Given the description of an element on the screen output the (x, y) to click on. 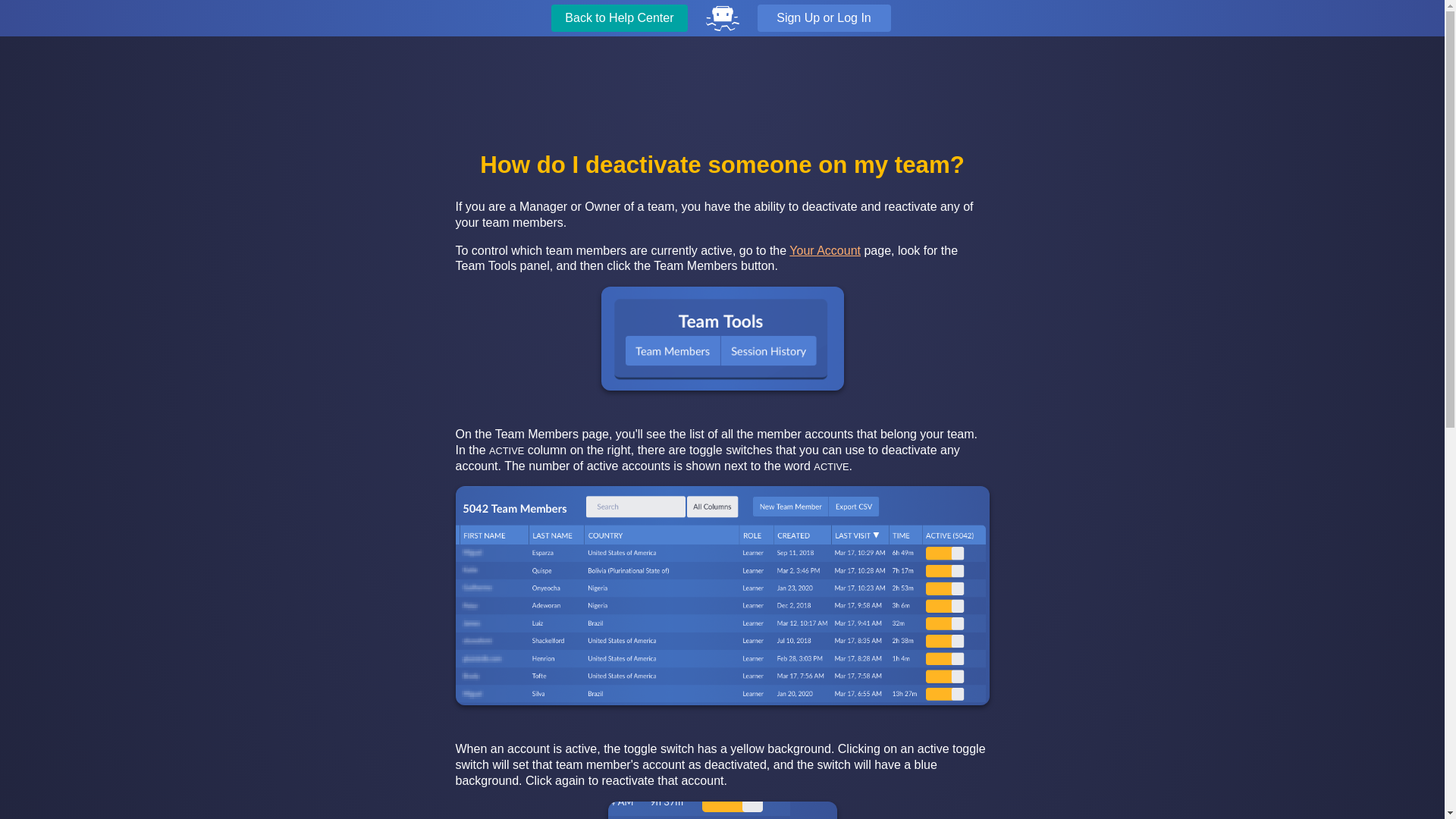
Back to Help Center (619, 17)
Sign Up or Log In (823, 17)
Your Account (824, 250)
